Given the description of an element on the screen output the (x, y) to click on. 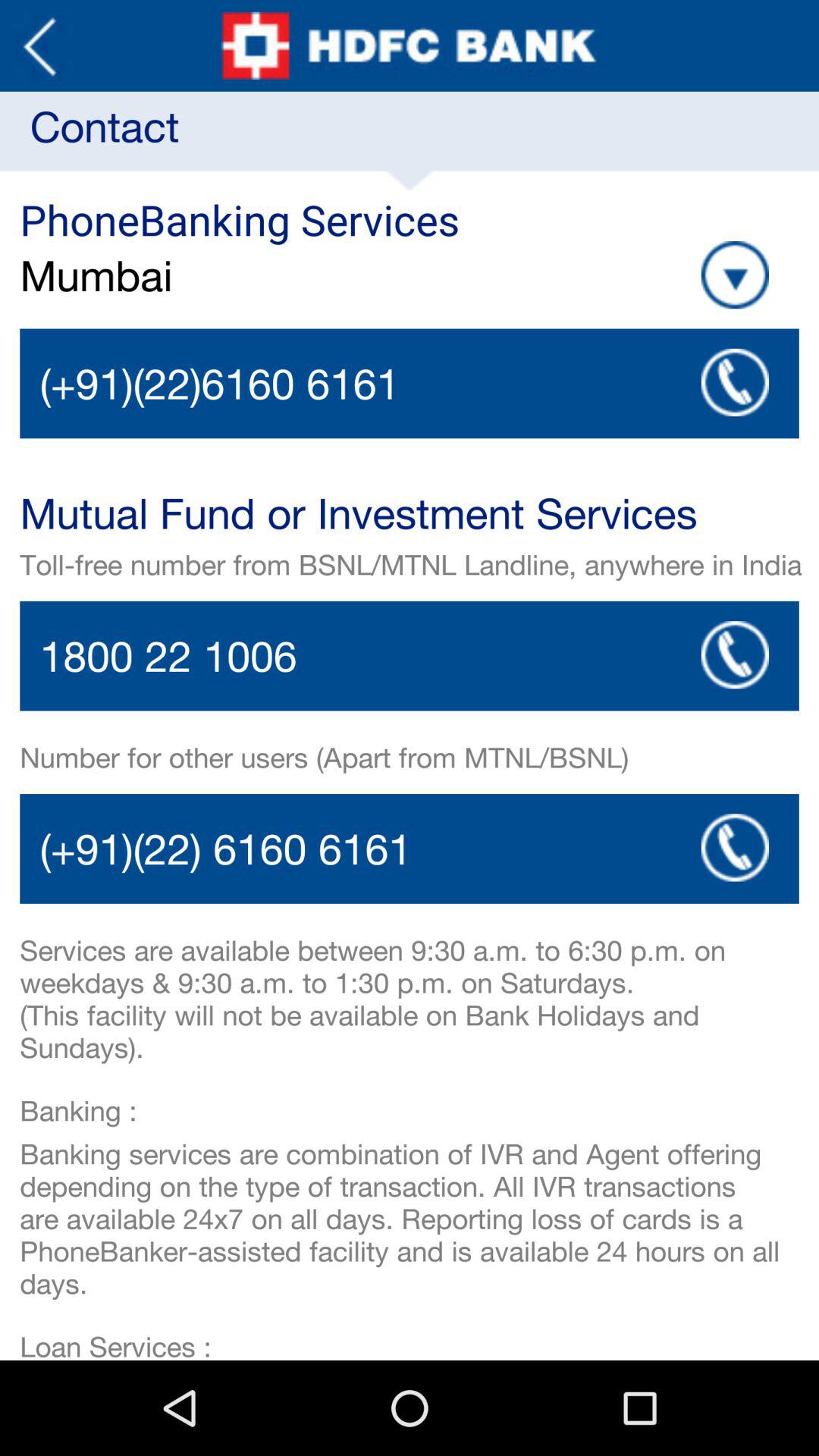
turn on app below phonebanking services item (248, 275)
